Given the description of an element on the screen output the (x, y) to click on. 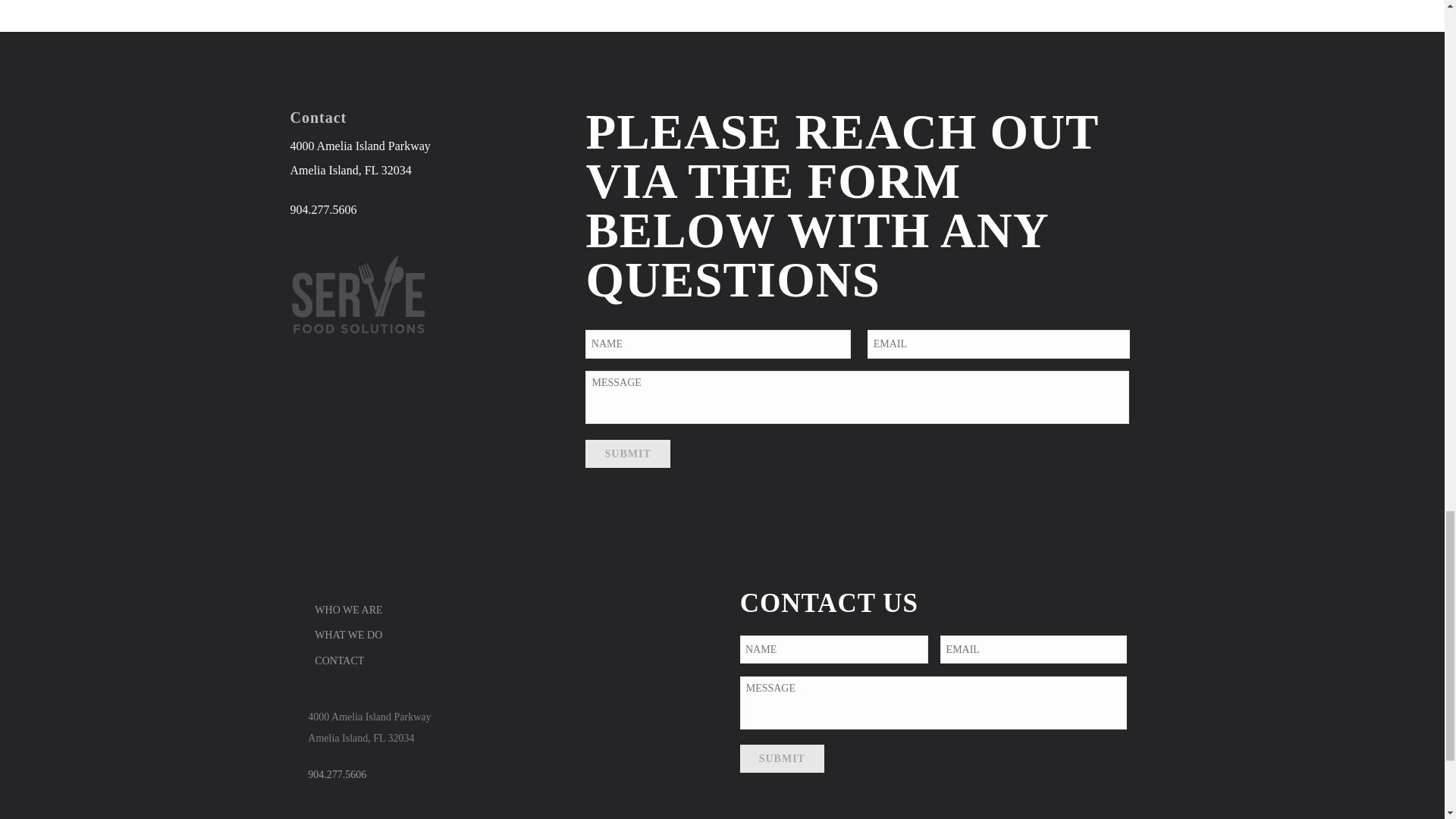
Submit (627, 453)
Submit (781, 758)
WHAT WE DO (352, 634)
Submit (781, 758)
WHO WE ARE (352, 609)
white-logo (357, 294)
904.277.5606 (336, 774)
904.277.5606 (322, 209)
Submit (627, 453)
CONTACT (343, 660)
